Given the description of an element on the screen output the (x, y) to click on. 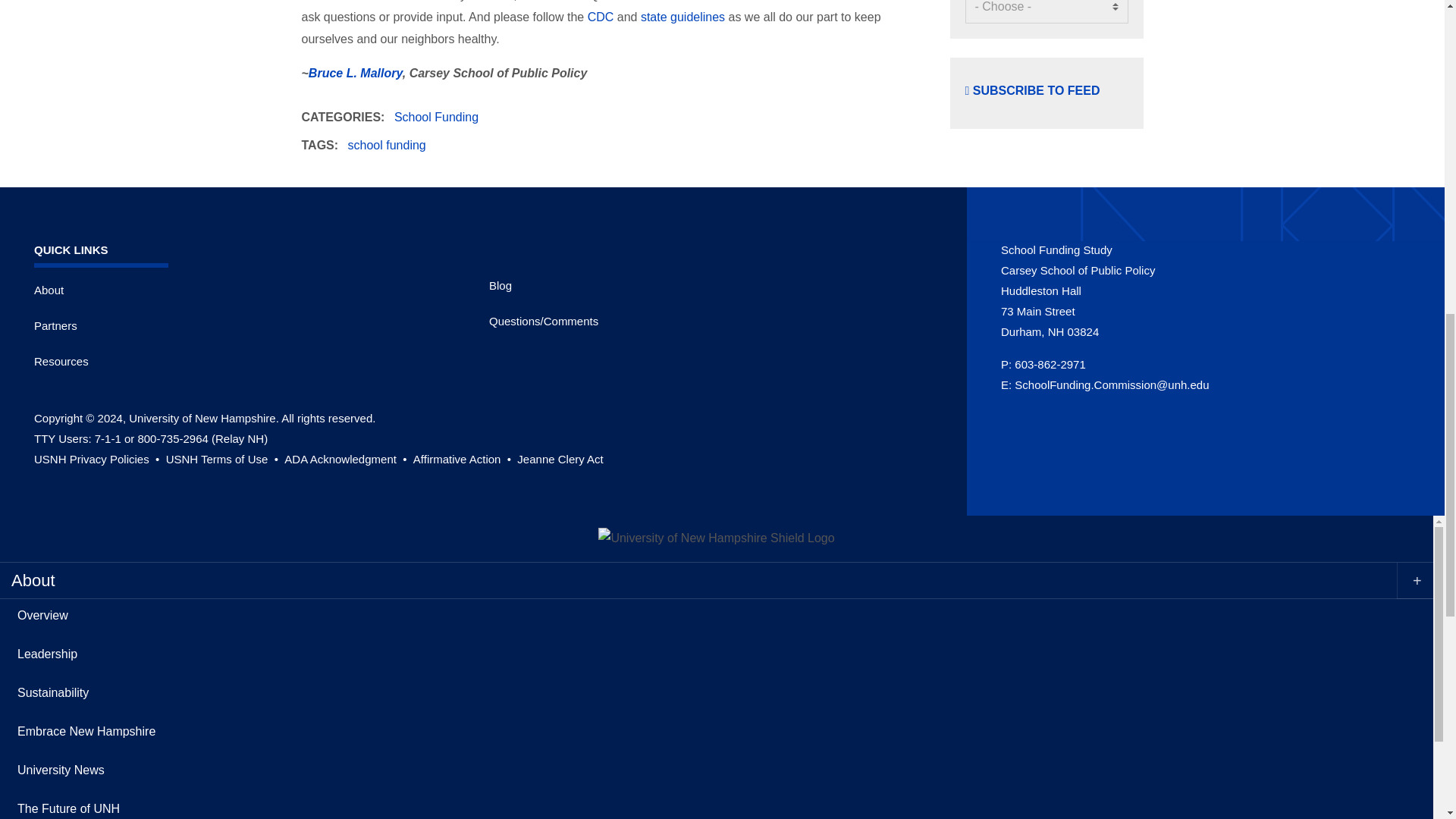
CDC (601, 16)
Learn more about ADA acknowledgement (346, 459)
school funding (386, 144)
About (48, 289)
Leadership (721, 654)
Learn (223, 459)
Bruce Mallory (355, 72)
Learn (463, 459)
Learn (97, 459)
Learn (559, 459)
